Given the description of an element on the screen output the (x, y) to click on. 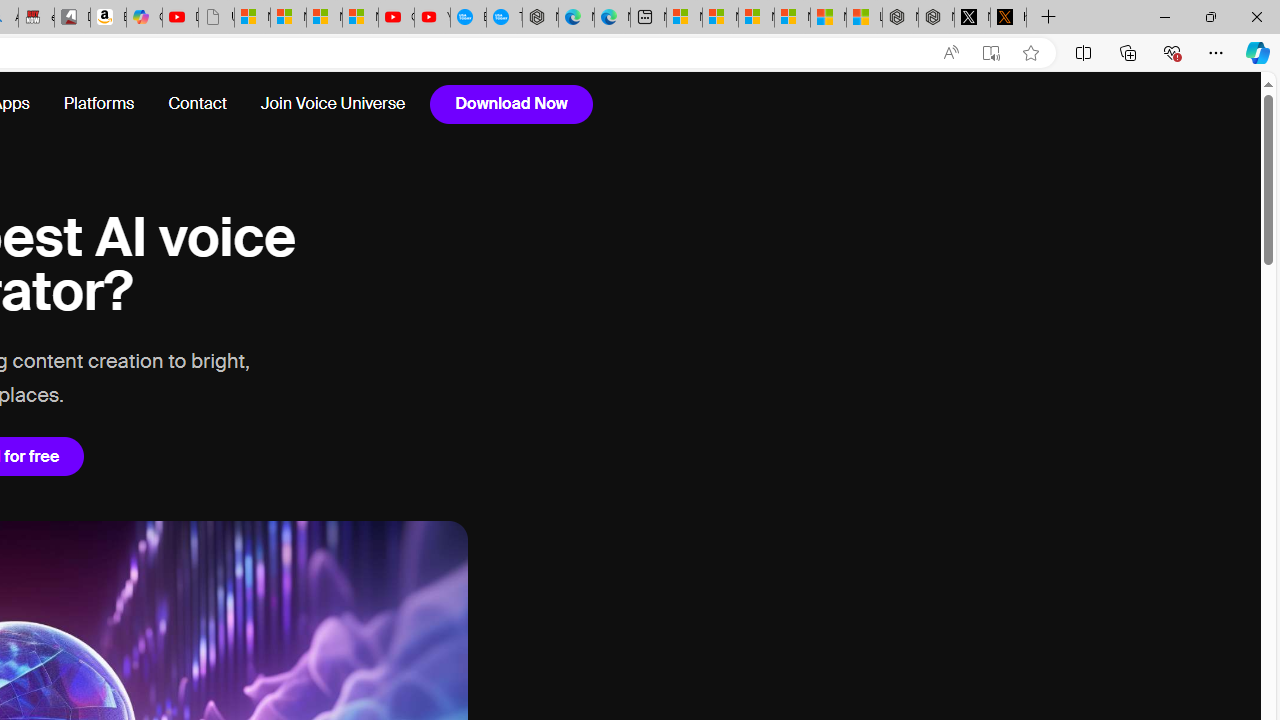
YouTube Kids - An App Created for Kids to Explore Content (432, 17)
Contact (196, 103)
